Given the description of an element on the screen output the (x, y) to click on. 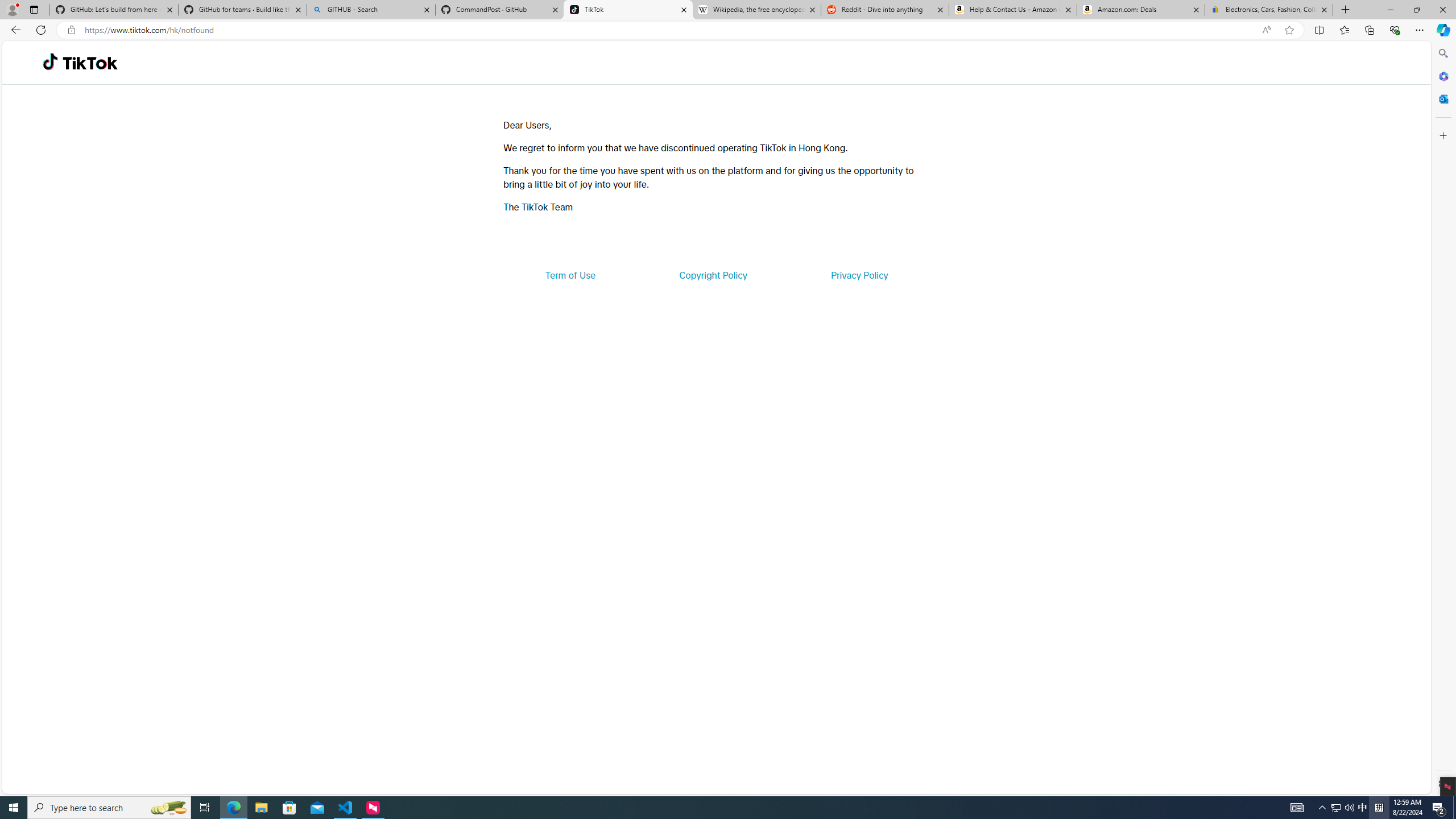
Wikipedia, the free encyclopedia (756, 9)
Term of Use (569, 274)
Help & Contact Us - Amazon Customer Service (1012, 9)
Copyright Policy (712, 274)
TikTok (628, 9)
